Given the description of an element on the screen output the (x, y) to click on. 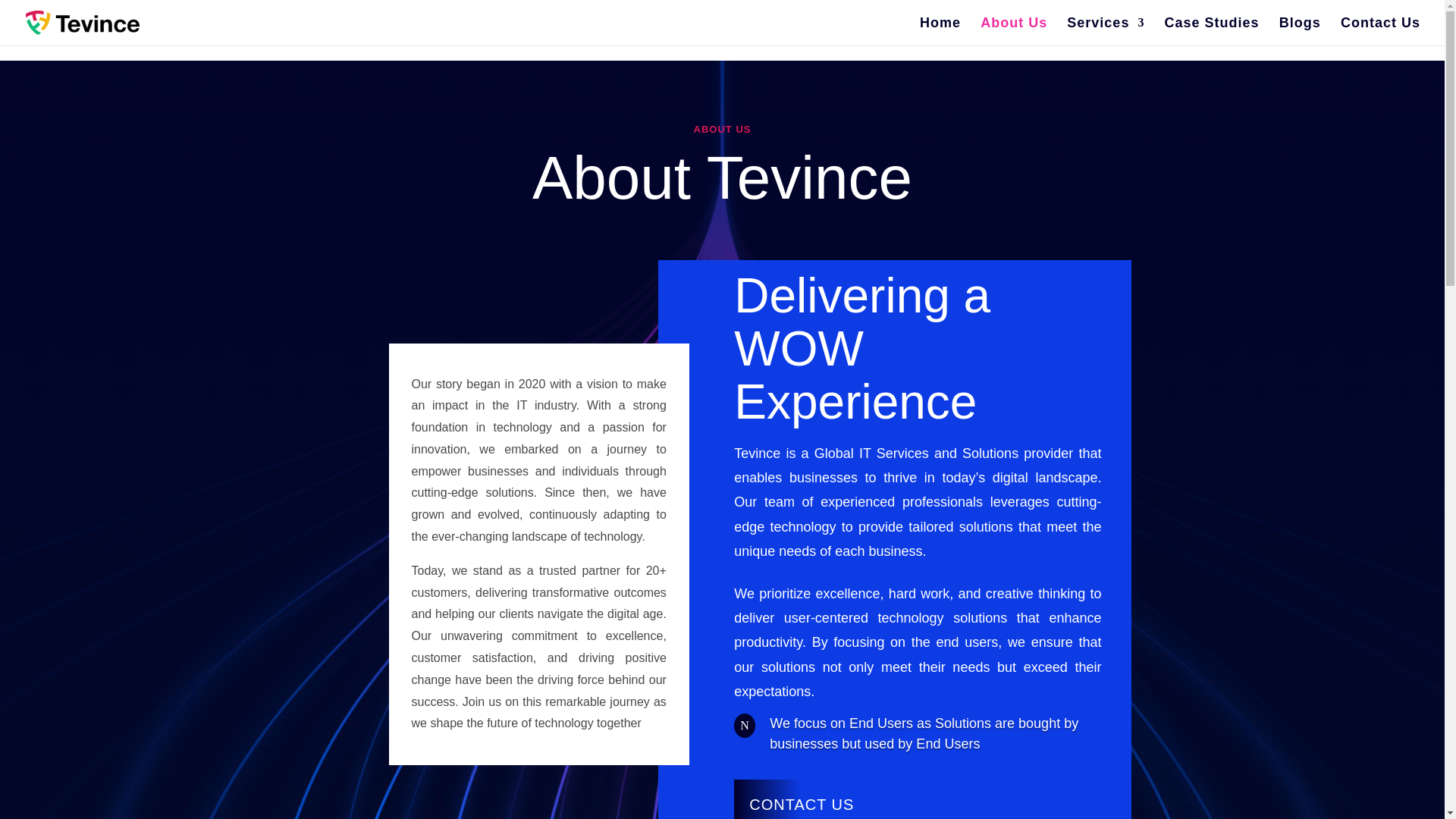
Services (1105, 31)
Contact Us (1380, 31)
Home (940, 31)
CONTACT US (801, 799)
Blogs (1299, 31)
About Us (1012, 31)
Case Studies (1211, 31)
